Given the description of an element on the screen output the (x, y) to click on. 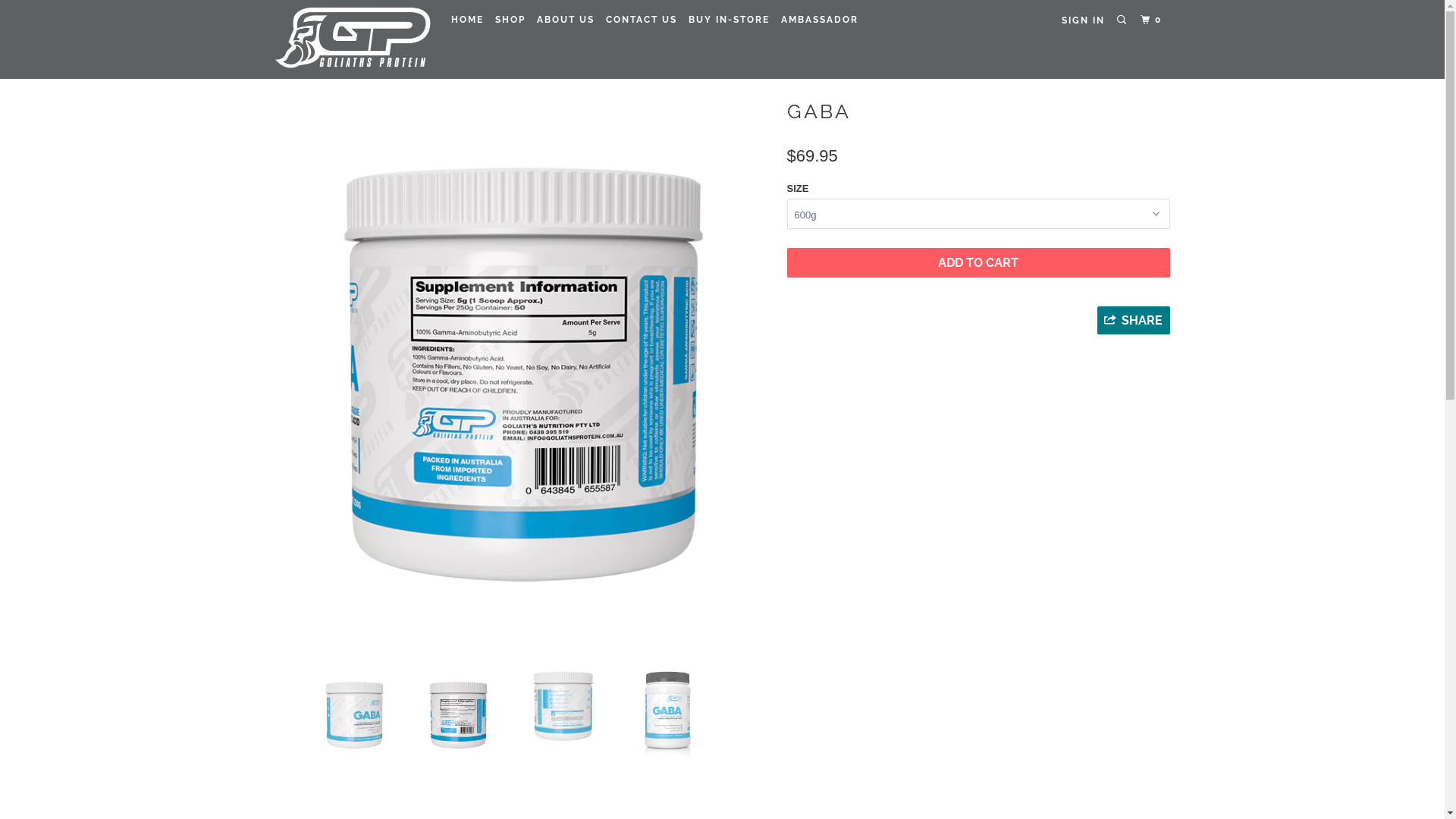
BUY IN-STORE Element type: text (728, 19)
HOME Element type: text (466, 19)
Search Element type: hover (1122, 19)
CONTACT US Element type: text (641, 19)
SIGN IN Element type: text (1082, 20)
ADD TO CART Element type: text (978, 262)
AMBASSADOR Element type: text (819, 19)
Gaba Element type: hover (522, 374)
ABOUT US Element type: text (565, 19)
SHOP Element type: text (510, 19)
0 Element type: text (1152, 19)
Goliath's Protein Element type: hover (351, 39)
